Given the description of an element on the screen output the (x, y) to click on. 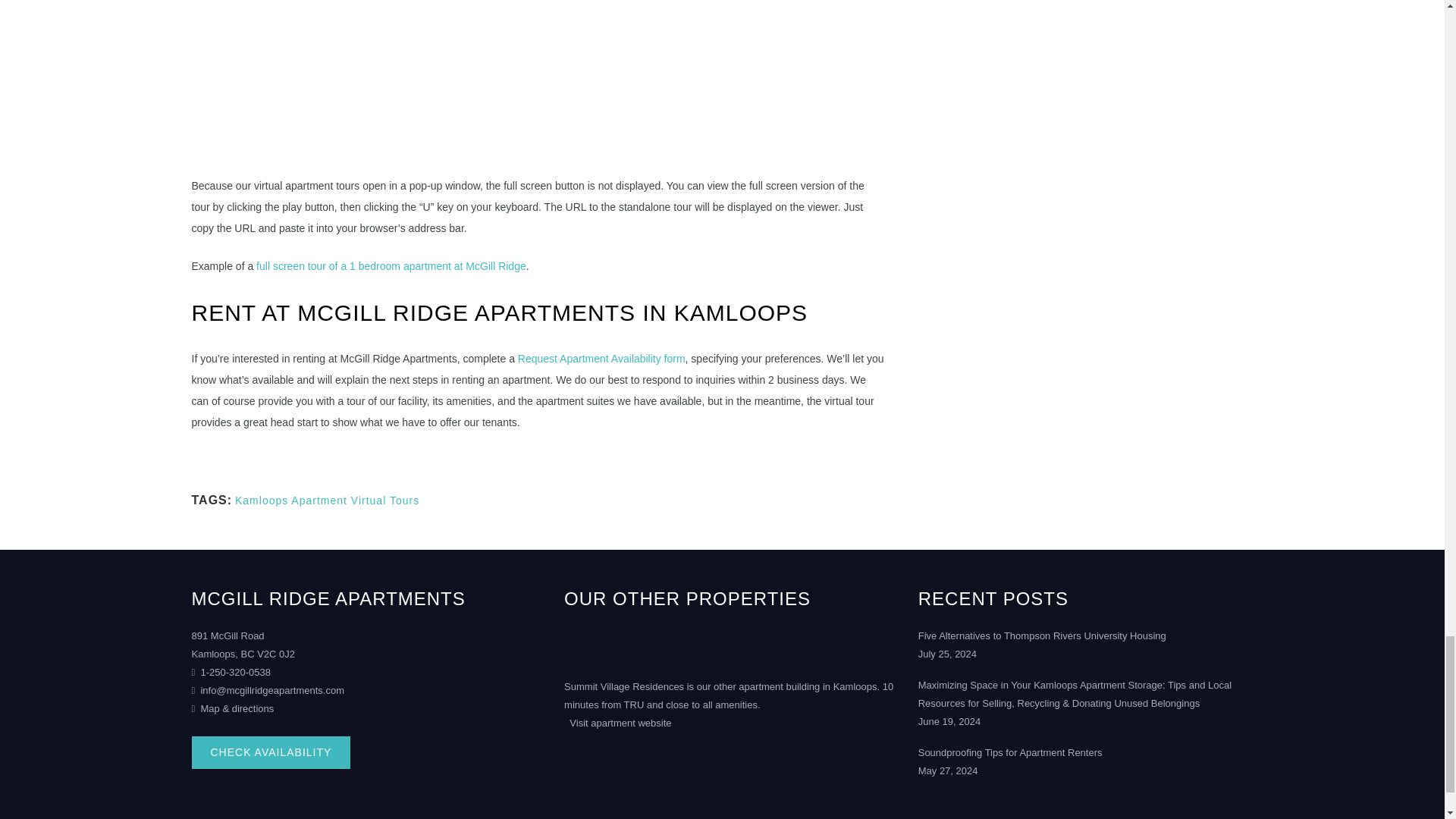
full screen tour of a 1 bedroom apartment at McGill Ridge (390, 265)
Kamloops Apartment Virtual Tours (326, 500)
Request Apartment Availability form (601, 358)
